Given the description of an element on the screen output the (x, y) to click on. 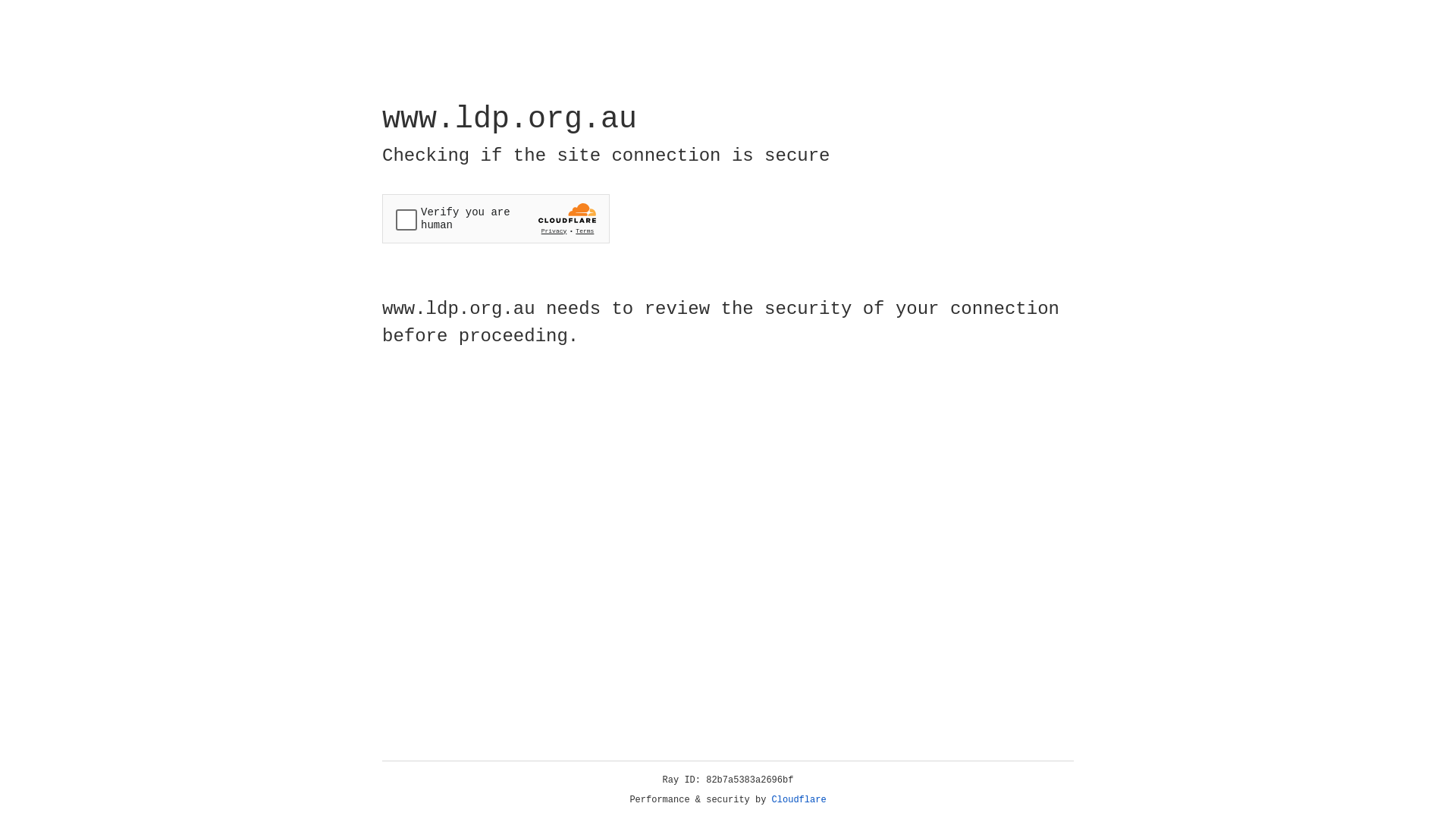
Widget containing a Cloudflare security challenge Element type: hover (495, 218)
Cloudflare Element type: text (798, 799)
